Given the description of an element on the screen output the (x, y) to click on. 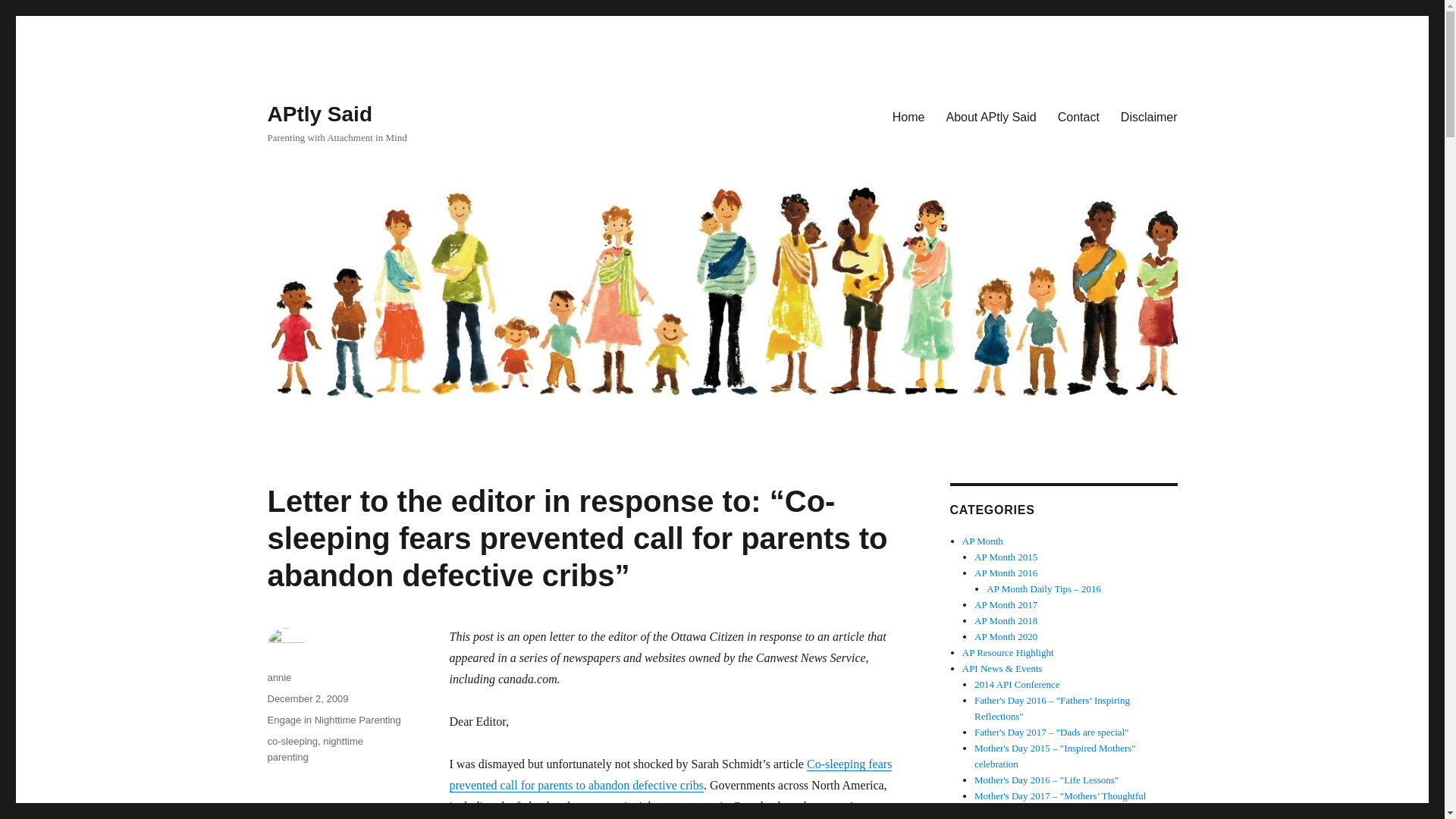
co-sleeping (291, 740)
AP Month (982, 541)
About APtly Said (991, 116)
Engage in Nighttime Parenting (333, 719)
APtly Said (318, 114)
Disclaimer (1148, 116)
Contact (1077, 116)
AP Month 2016 (1005, 572)
nighttime parenting (314, 748)
AP Month 2015 (1005, 556)
December 2, 2009 (306, 698)
Home (909, 116)
annie (278, 677)
